Given the description of an element on the screen output the (x, y) to click on. 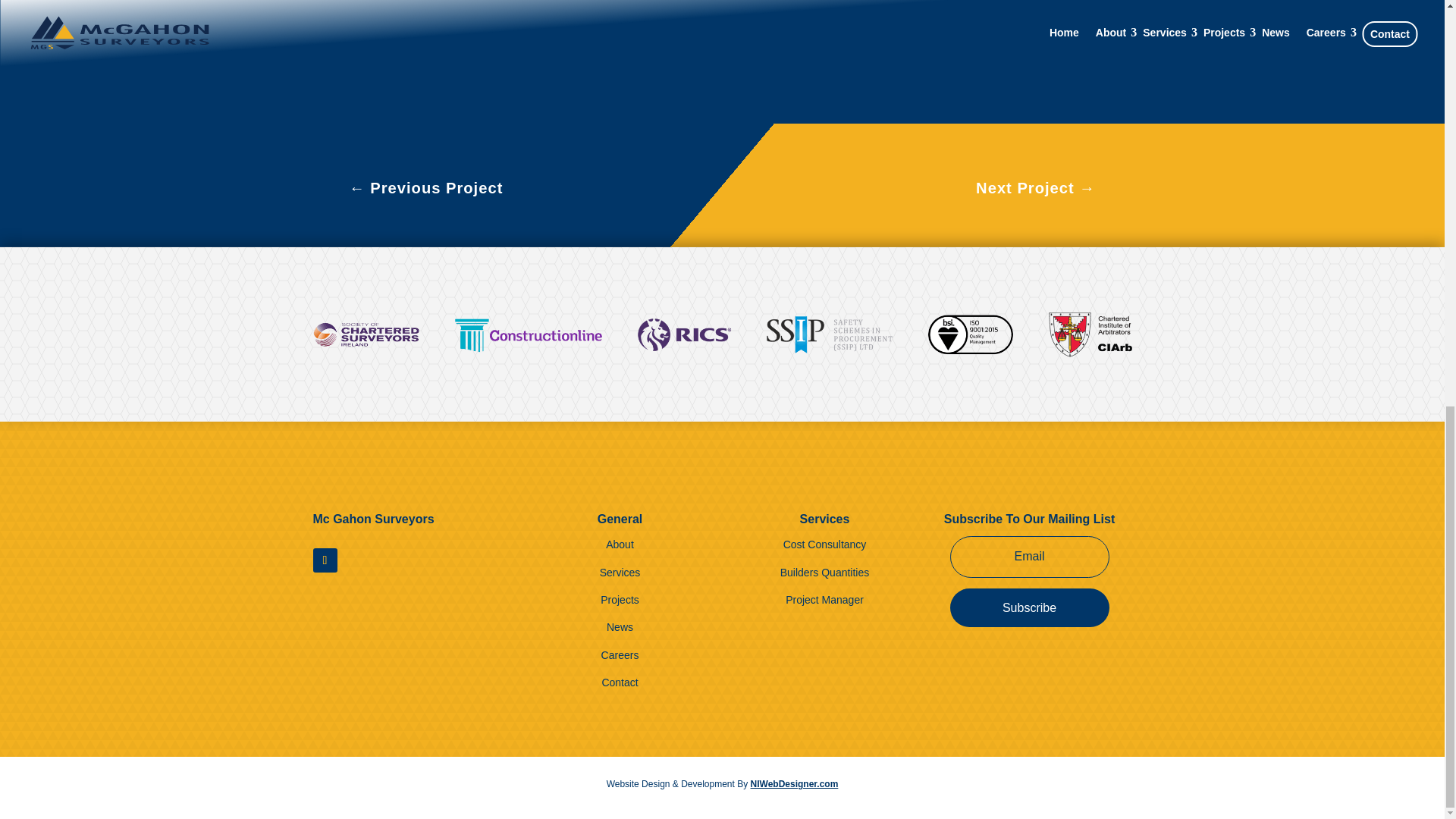
Follow on LinkedIn (324, 559)
Credentials-All-Mobile-v2 (722, 334)
pic 2 (337, 61)
